Given the description of an element on the screen output the (x, y) to click on. 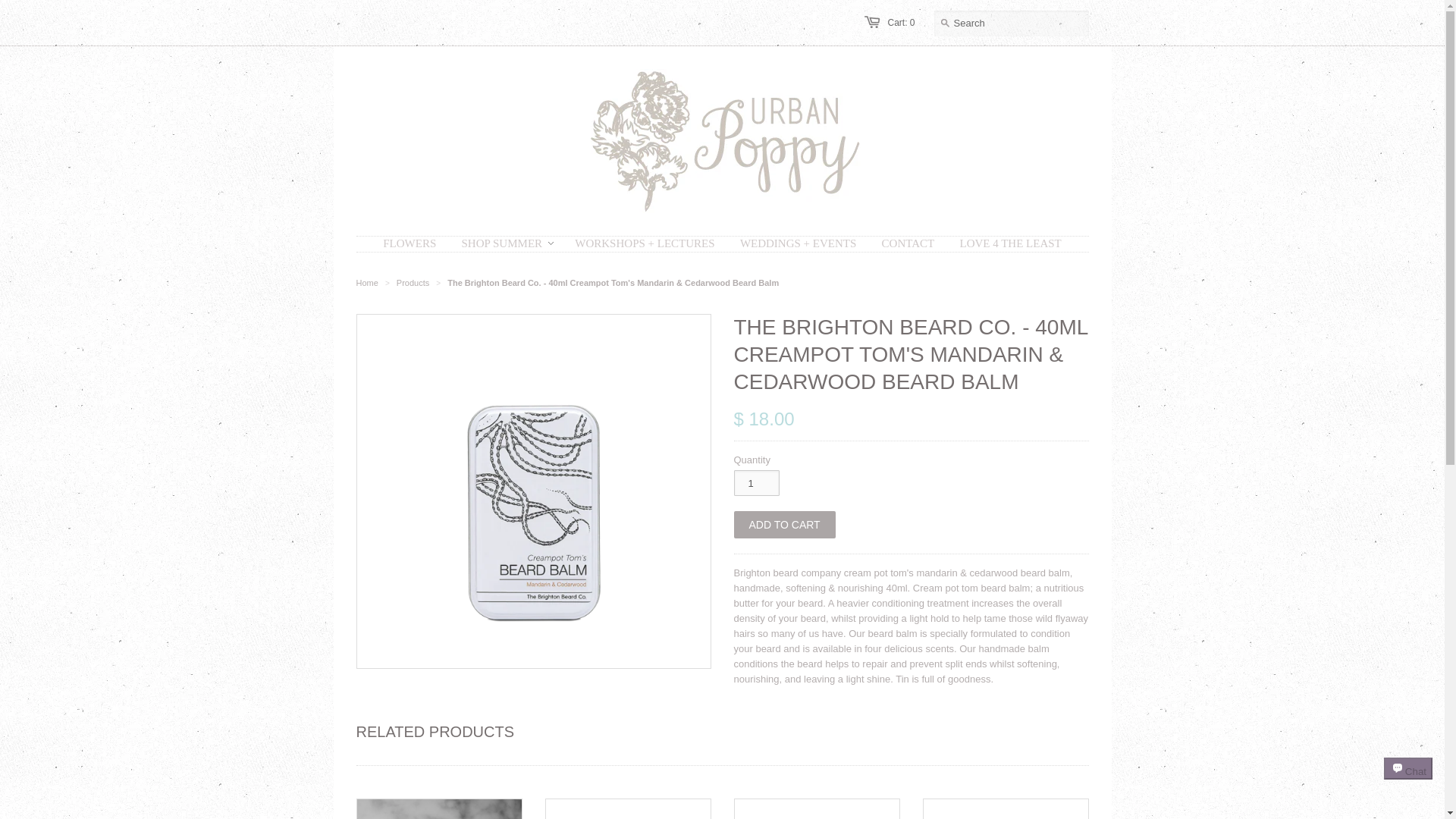
Shopify online store chat (1408, 781)
Home (367, 282)
FLOWERS (408, 243)
Add to cart (784, 524)
All Products (412, 282)
Add to cart (784, 524)
Urban Poppy (367, 282)
Shopping Cart (900, 22)
LOVE 4 THE LEAST (1009, 243)
CONTACT (908, 243)
Products (412, 282)
1 (755, 483)
SHOP SUMMER (501, 243)
Cart: 0 (900, 22)
